Given the description of an element on the screen output the (x, y) to click on. 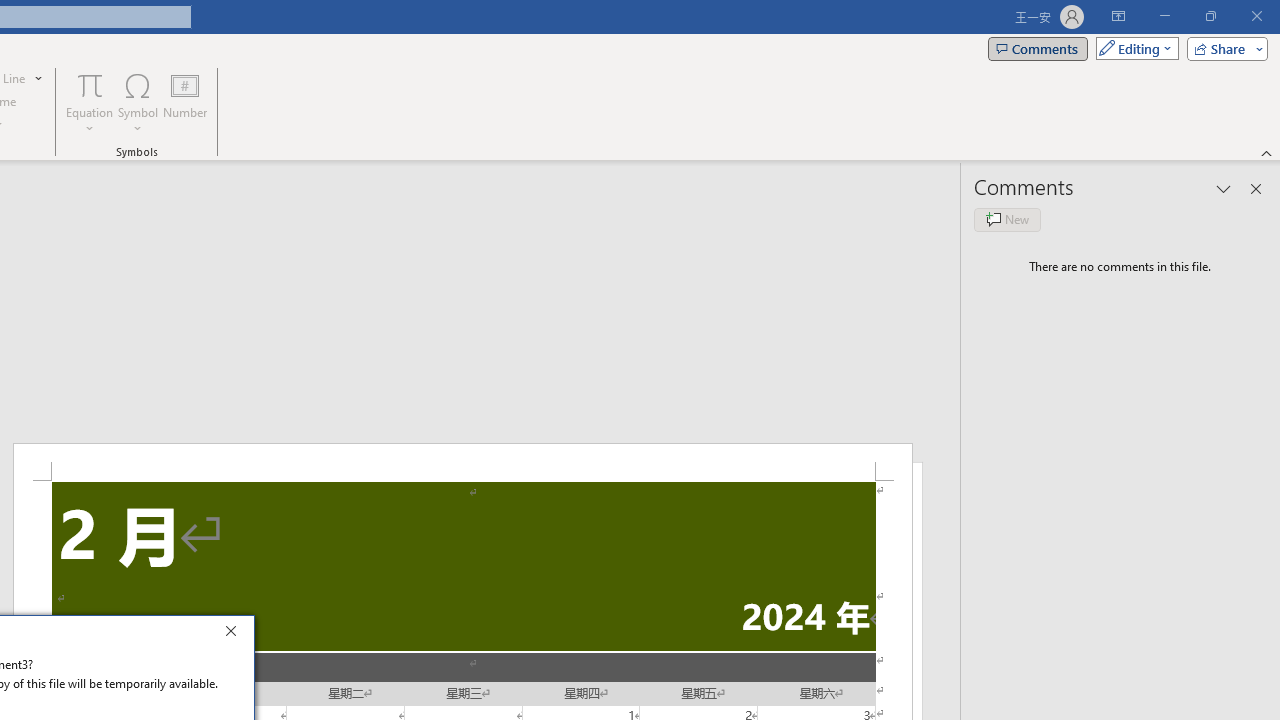
Number... (185, 102)
Symbol (138, 102)
